Given the description of an element on the screen output the (x, y) to click on. 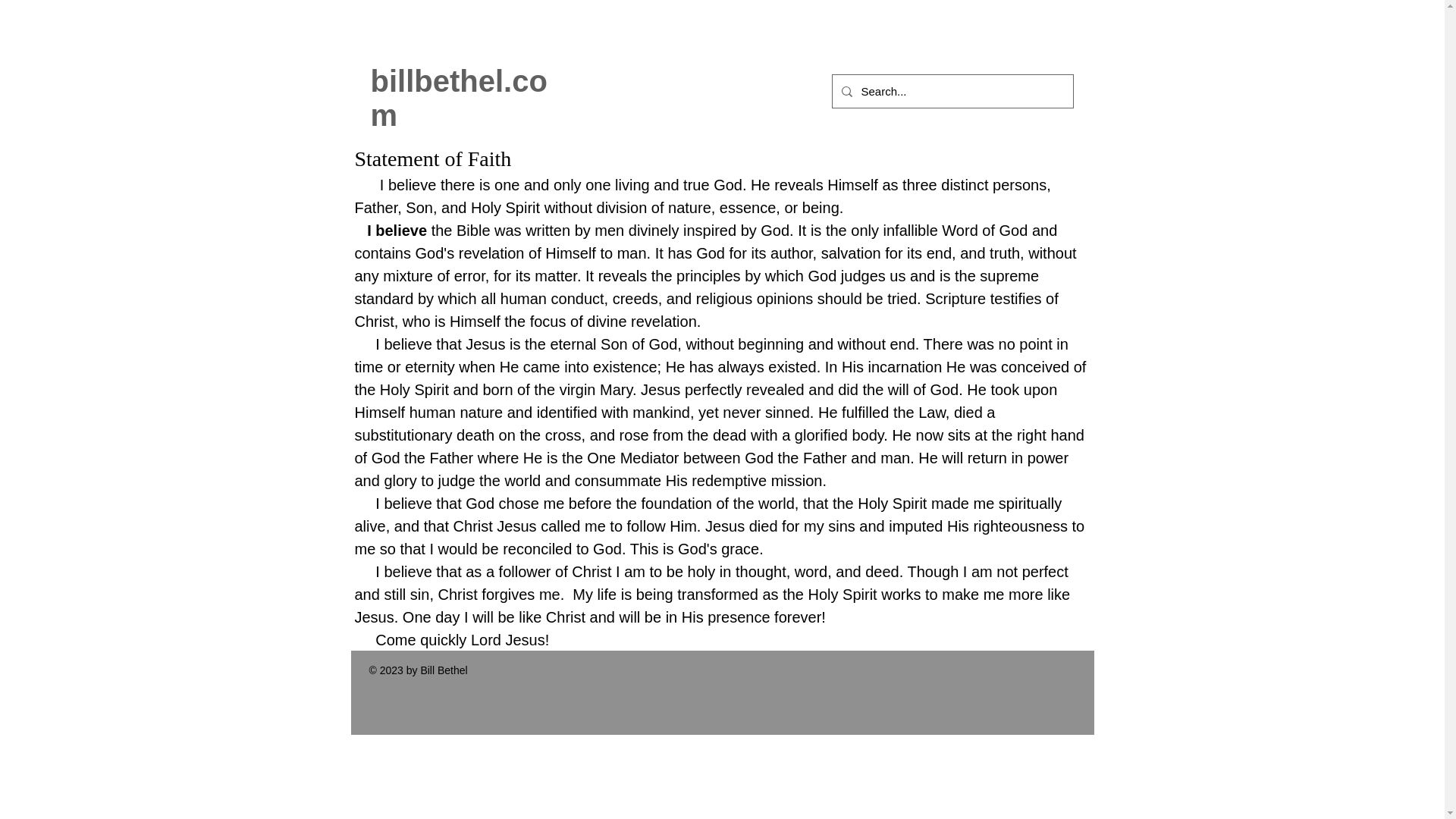
billbethel.com (458, 97)
